Given the description of an element on the screen output the (x, y) to click on. 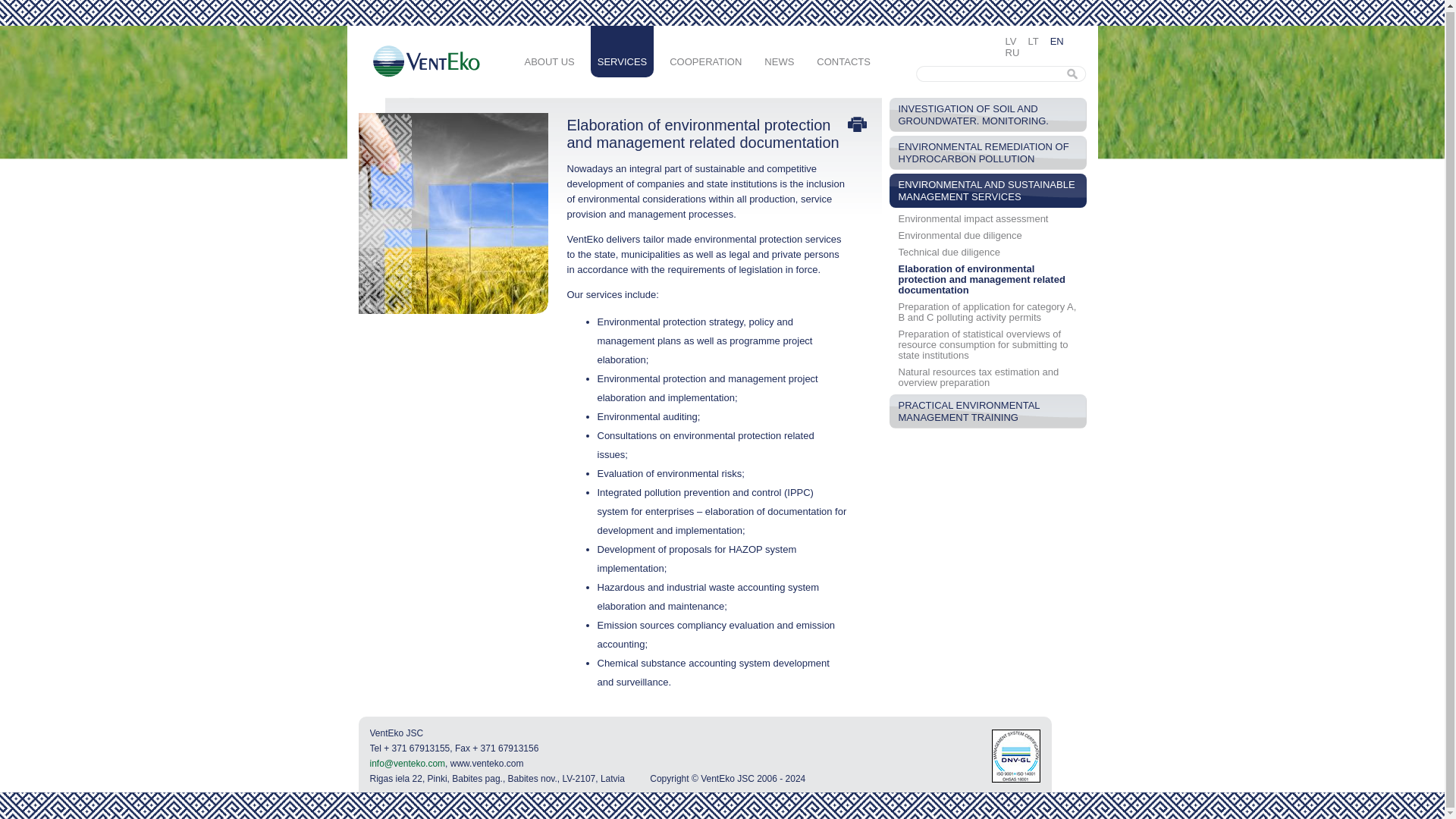
Search (1073, 73)
ENVIRONMENTAL AND SUSTAINABLE MANAGEMENT SERVICES (987, 190)
Environmental and sustainable management services (987, 190)
Services (622, 50)
ENVIRONMENTAL REMEDIATION OF HYDROCARBON POLLUTION (987, 152)
Environmental impact assessment (973, 218)
PRACTICAL ENVIRONMENTAL MANAGEMENT TRAINING (987, 410)
Technical due diligence (948, 251)
